Given the description of an element on the screen output the (x, y) to click on. 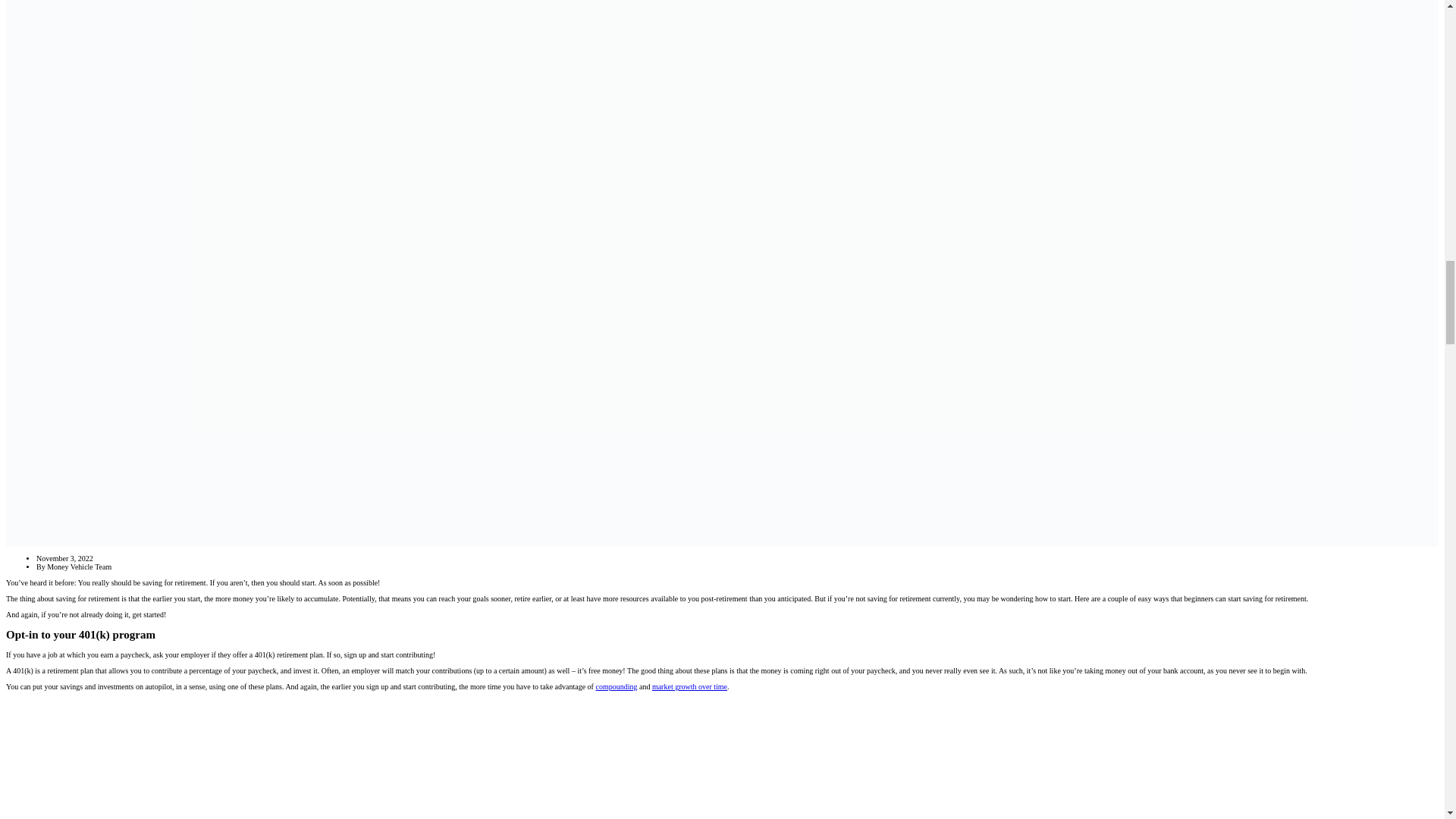
How long does it take an investment to DOUBLE?? (290, 758)
